Given the description of an element on the screen output the (x, y) to click on. 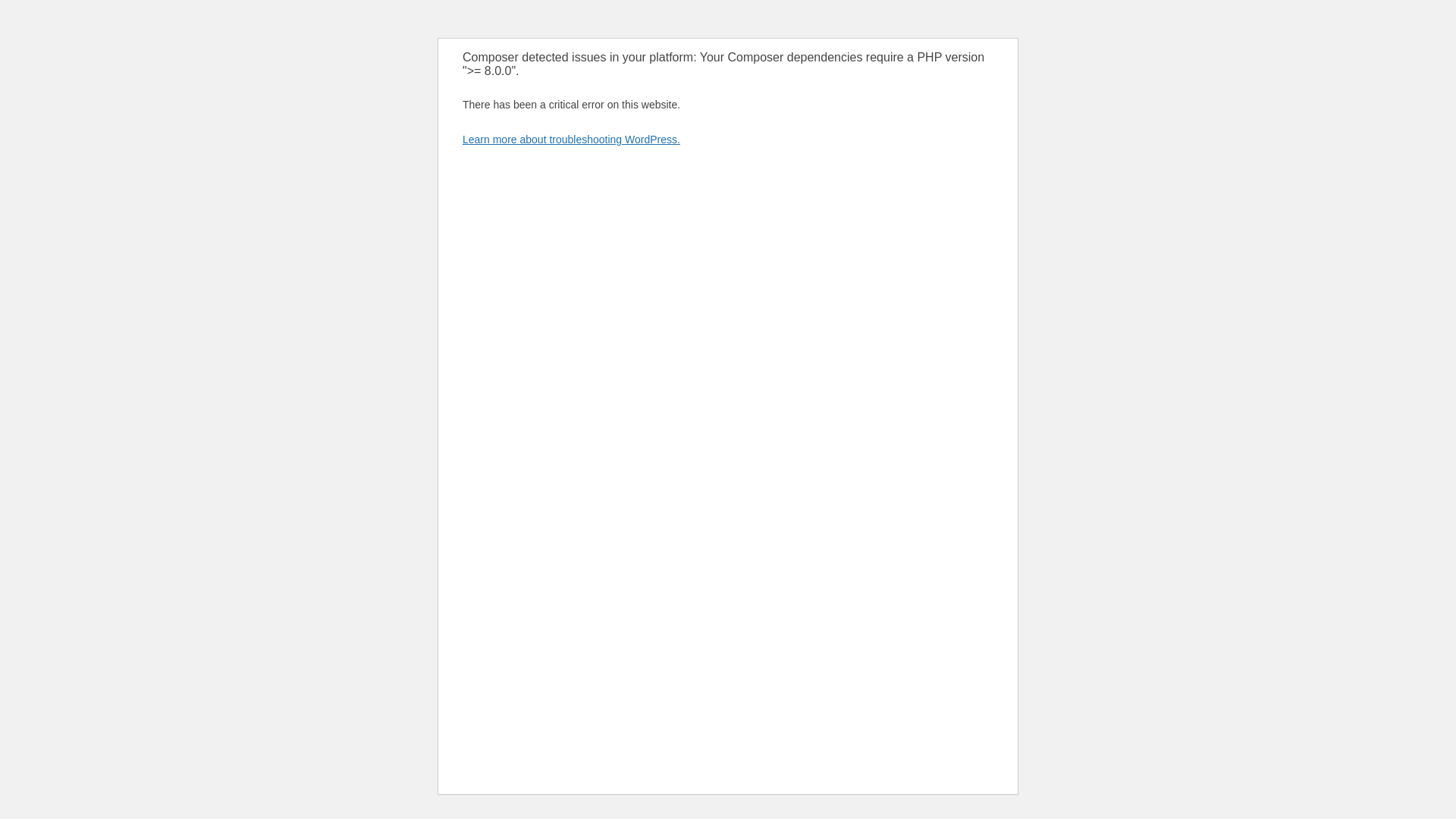
Learn more about troubleshooting WordPress. (571, 139)
